Given the description of an element on the screen output the (x, y) to click on. 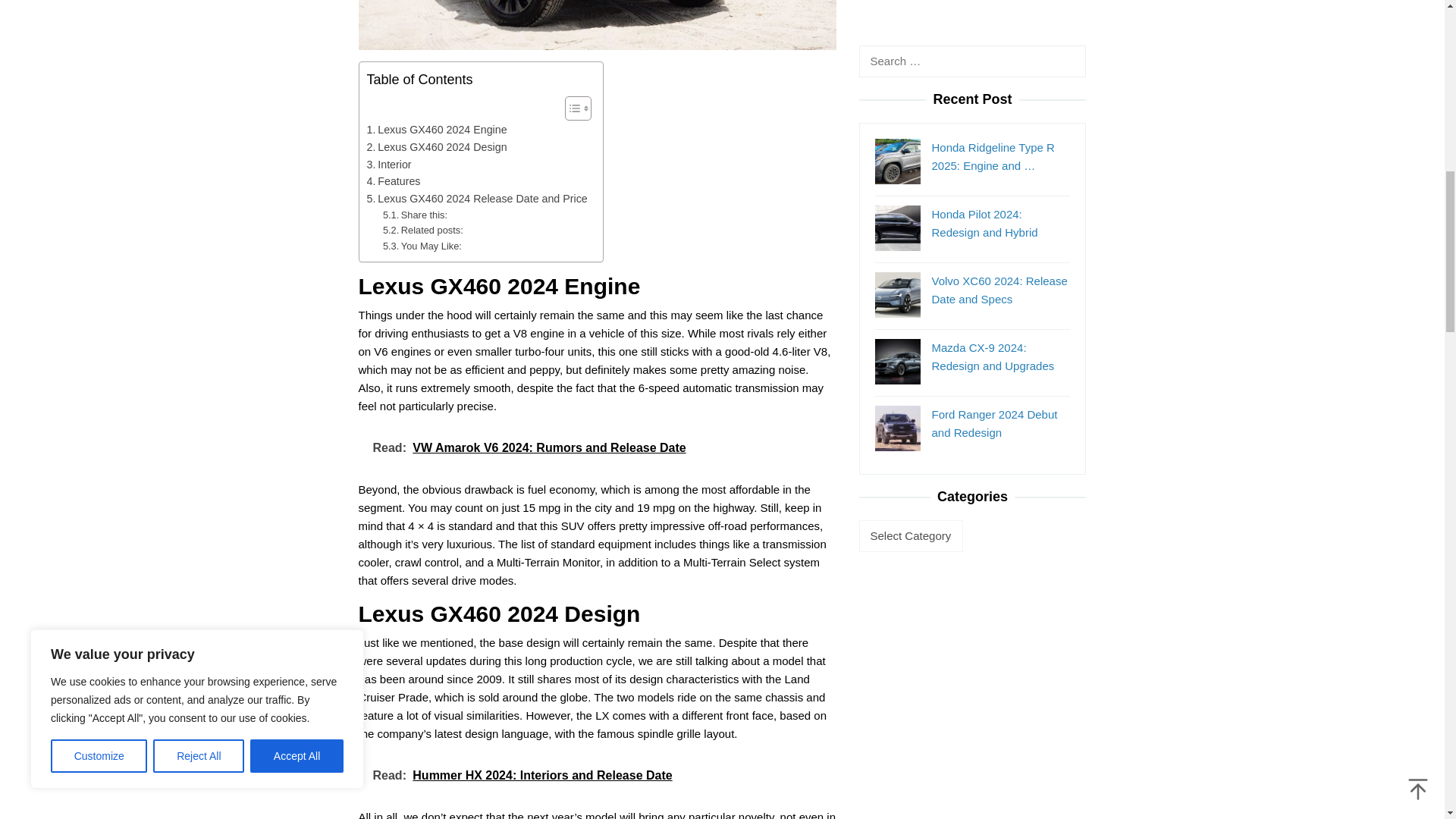
Lexus GX460 2024 Release Date and Price (477, 199)
Lexus GX460 2024 Design (436, 147)
Interior (389, 164)
You May Like: (421, 246)
Share this: (414, 215)
Related posts: (422, 230)
Lexus GX460 2024 Engine (436, 129)
Features (393, 181)
